Given the description of an element on the screen output the (x, y) to click on. 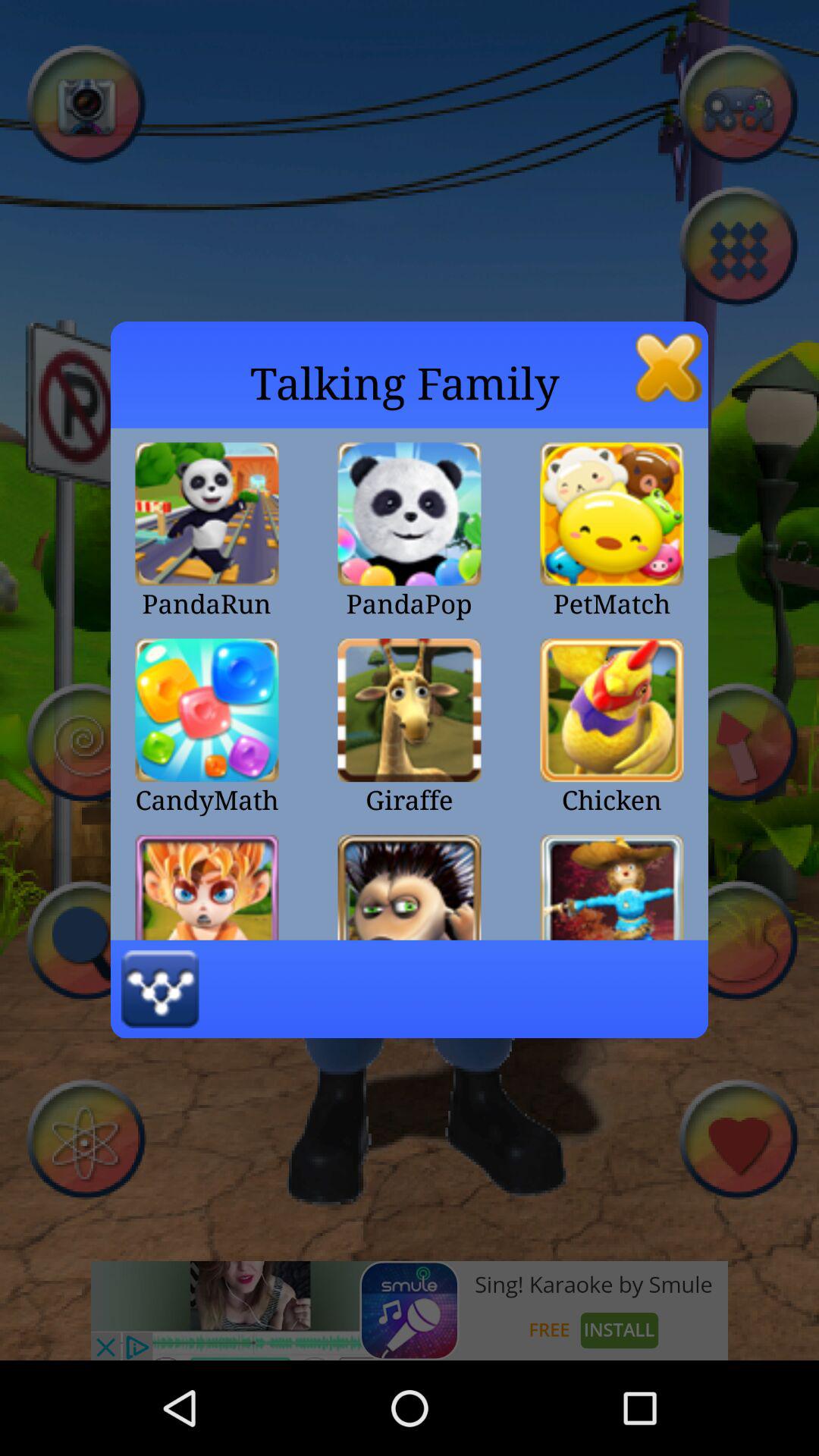
choose the icon next to talking family (668, 367)
